Given the description of an element on the screen output the (x, y) to click on. 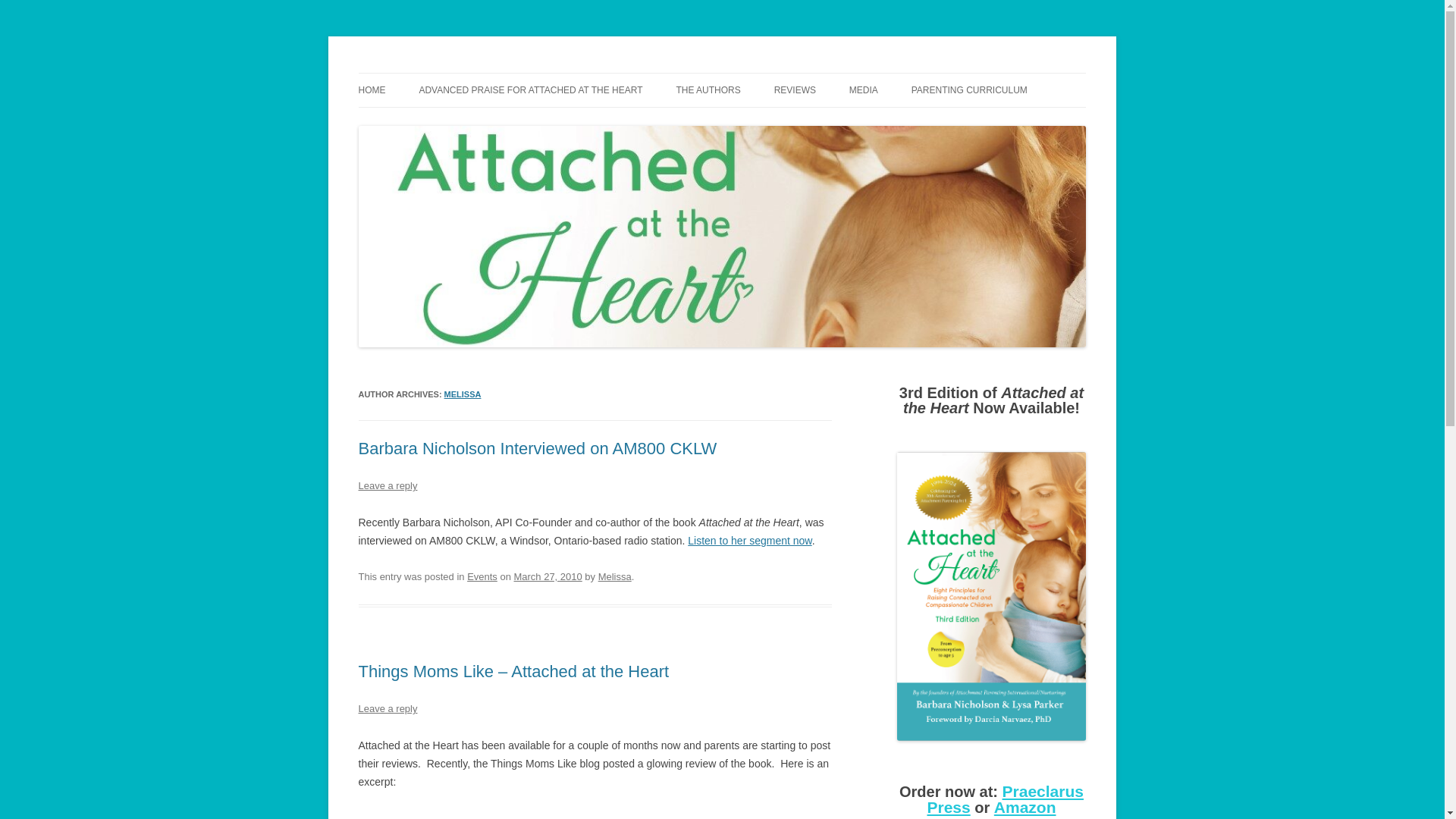
Barbara Nicholson Interviewed on AM800 CKLW (537, 447)
MELISSA (462, 393)
5:14 pm (547, 576)
Listen to her segment now (748, 540)
Melissa (614, 576)
Leave a reply (387, 485)
Praeclarus Press (1004, 798)
Events (482, 576)
Leave a reply (387, 708)
ADVANCED PRAISE FOR ATTACHED AT THE HEART (530, 90)
